Given the description of an element on the screen output the (x, y) to click on. 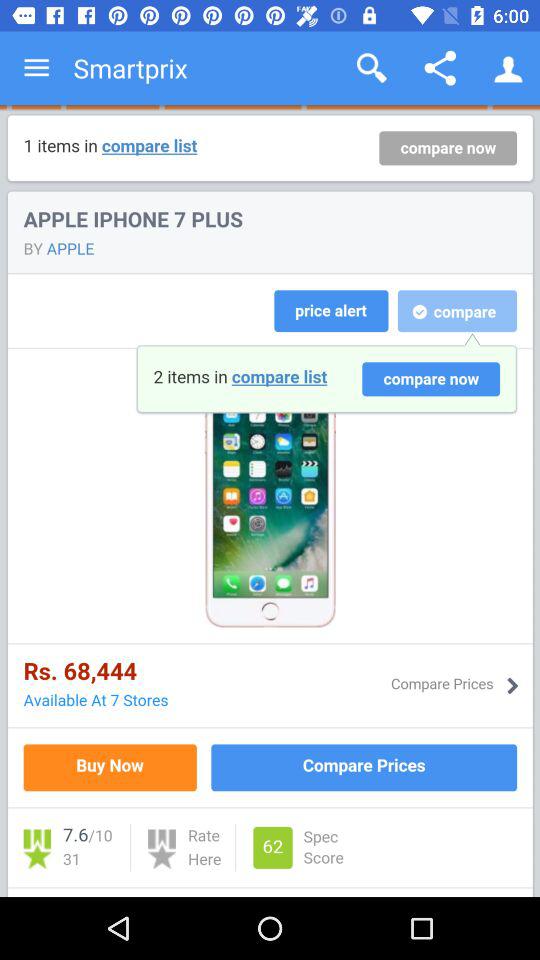
main image screen (270, 501)
